Given the description of an element on the screen output the (x, y) to click on. 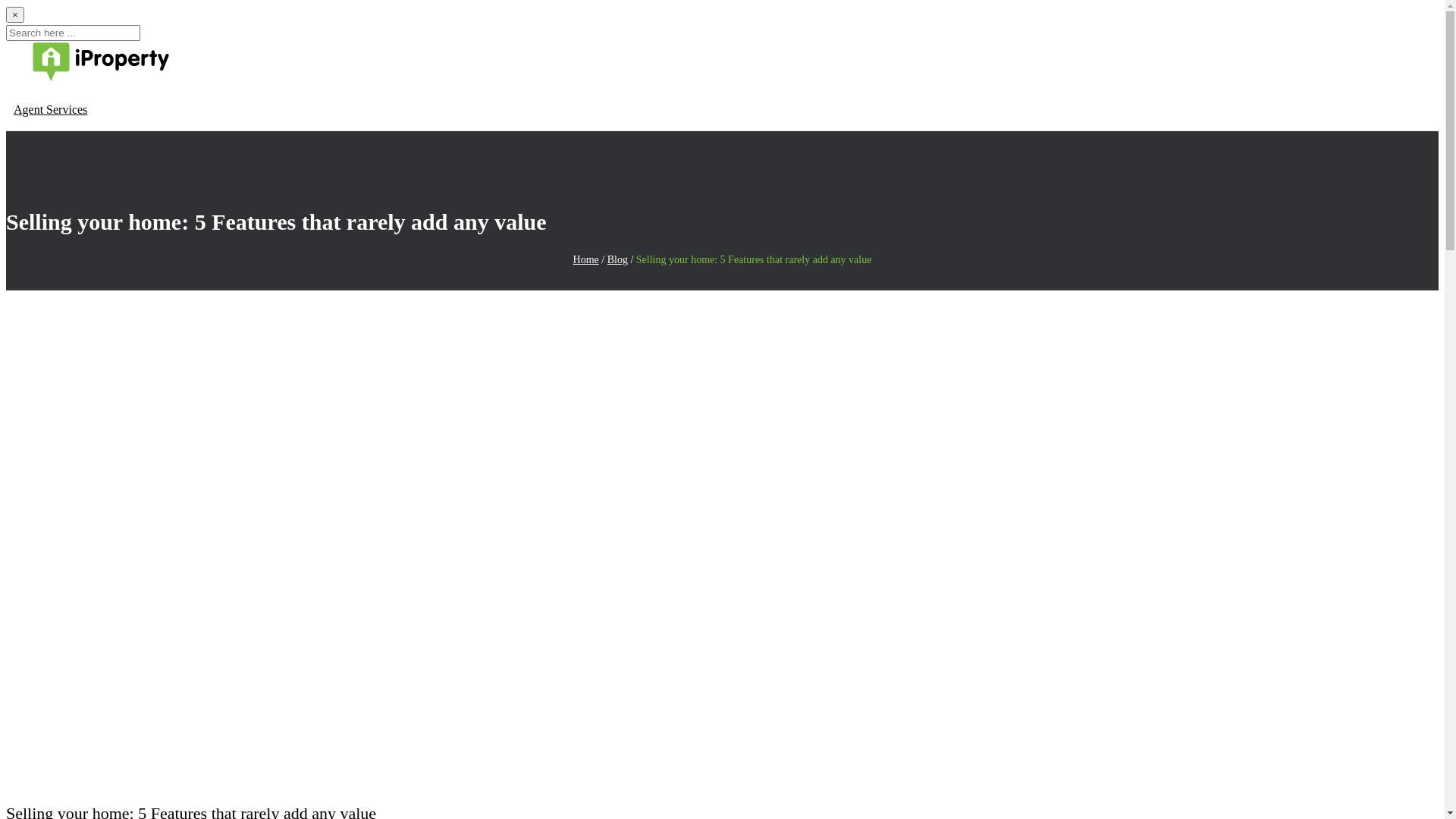
Agent Services Element type: text (50, 109)
Home Element type: text (586, 259)
iProperty.com.au Element type: hover (87, 77)
Blog Element type: text (617, 259)
